Given the description of an element on the screen output the (x, y) to click on. 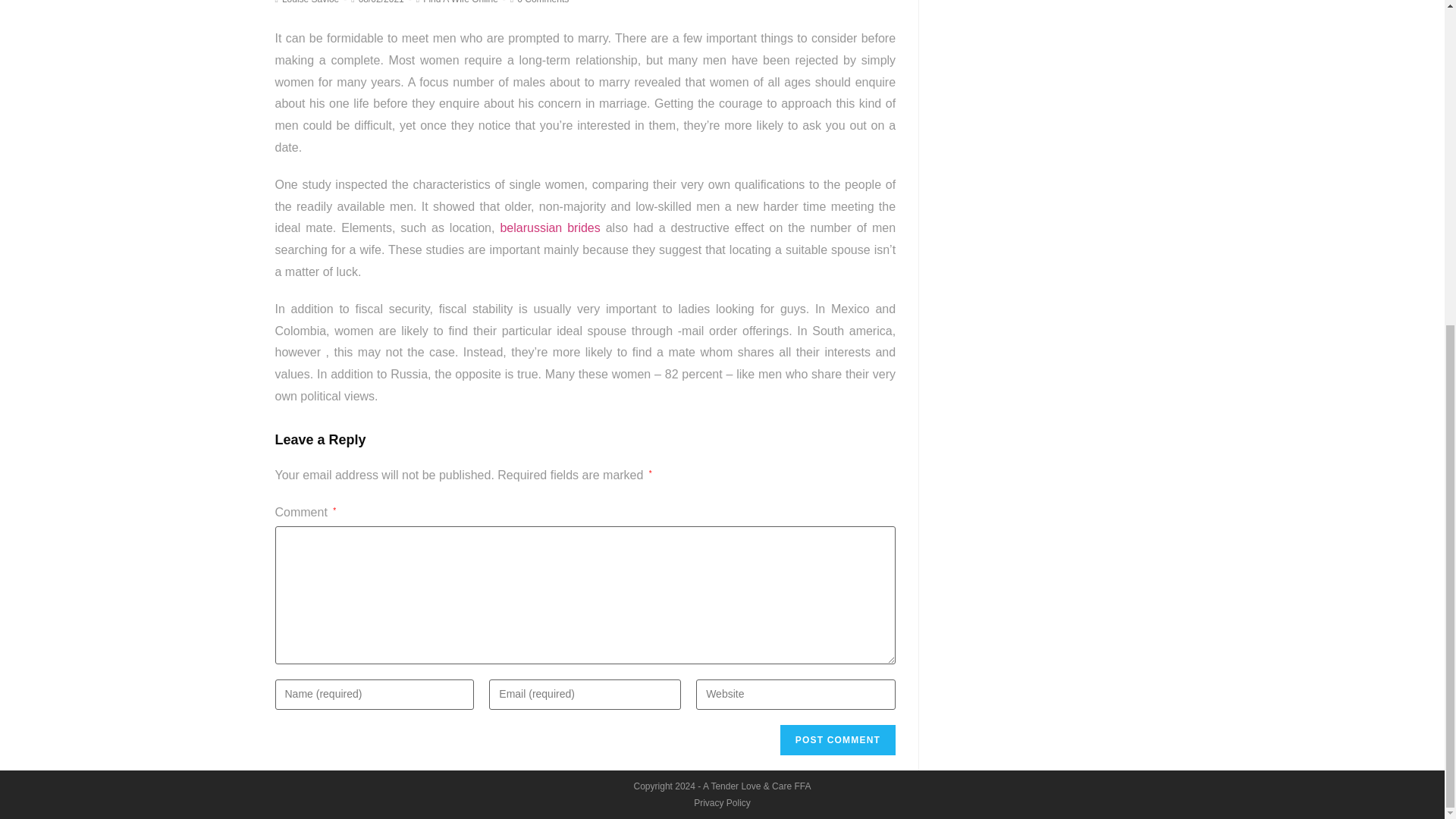
Louise Savioe (310, 2)
Post Comment (837, 739)
Post Comment (837, 739)
belarussian brides (549, 227)
0 Comments (542, 2)
Find A Wife Online (460, 2)
Privacy Policy (722, 802)
Posts by Louise Savioe (310, 2)
